Given the description of an element on the screen output the (x, y) to click on. 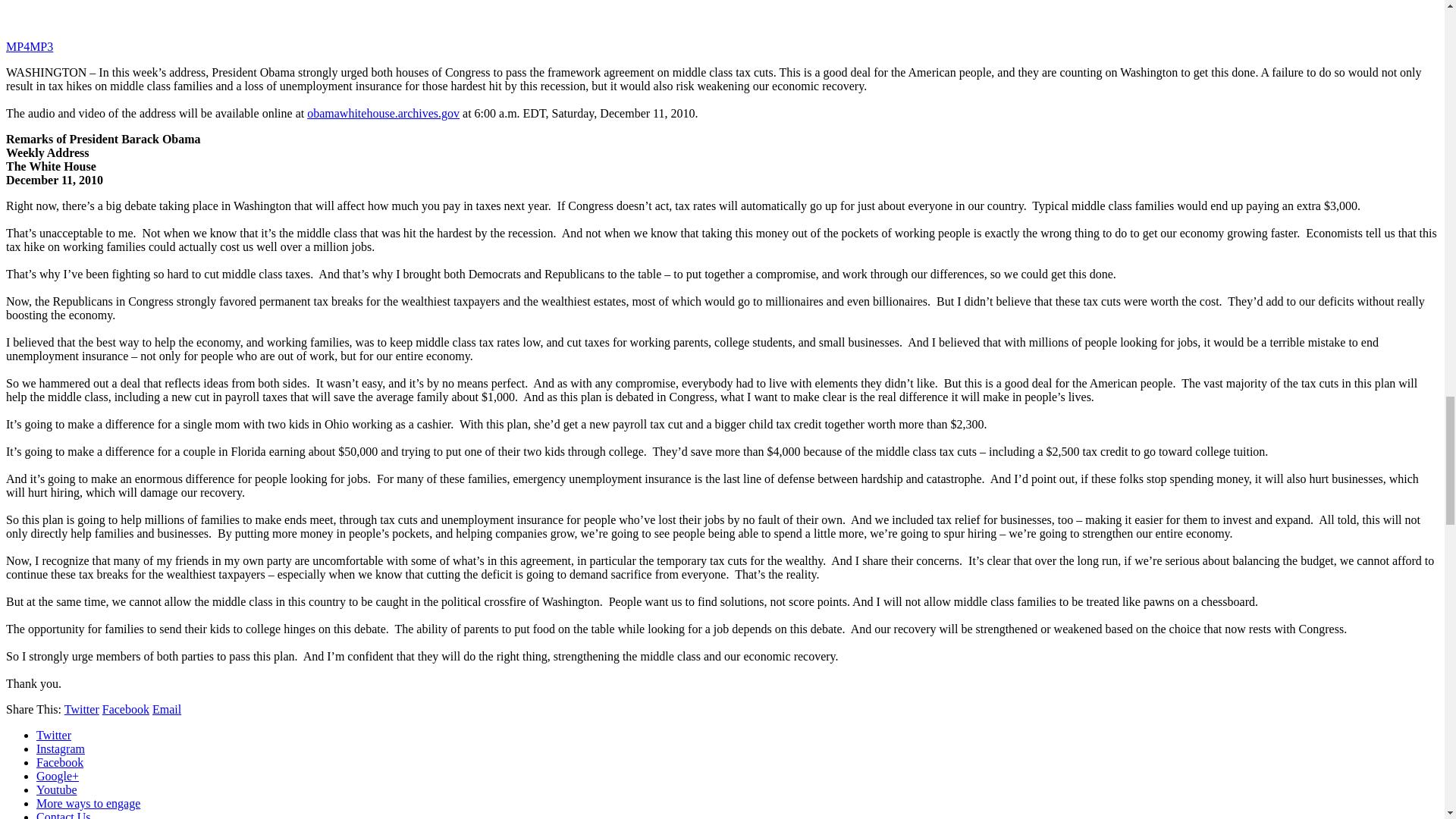
Email (166, 708)
Follow the Whitehouse on Twitter. (53, 735)
Contact the Whitehouse. (63, 814)
More ways to engage with the Whitehouse. (87, 802)
Facebook (125, 708)
See the Whitehouse on Instagram. (60, 748)
Like the Whitehouse on Facebook. (59, 762)
Visit The Whitehouse Channel on Youtube. (56, 789)
Twitter (81, 708)
